Given the description of an element on the screen output the (x, y) to click on. 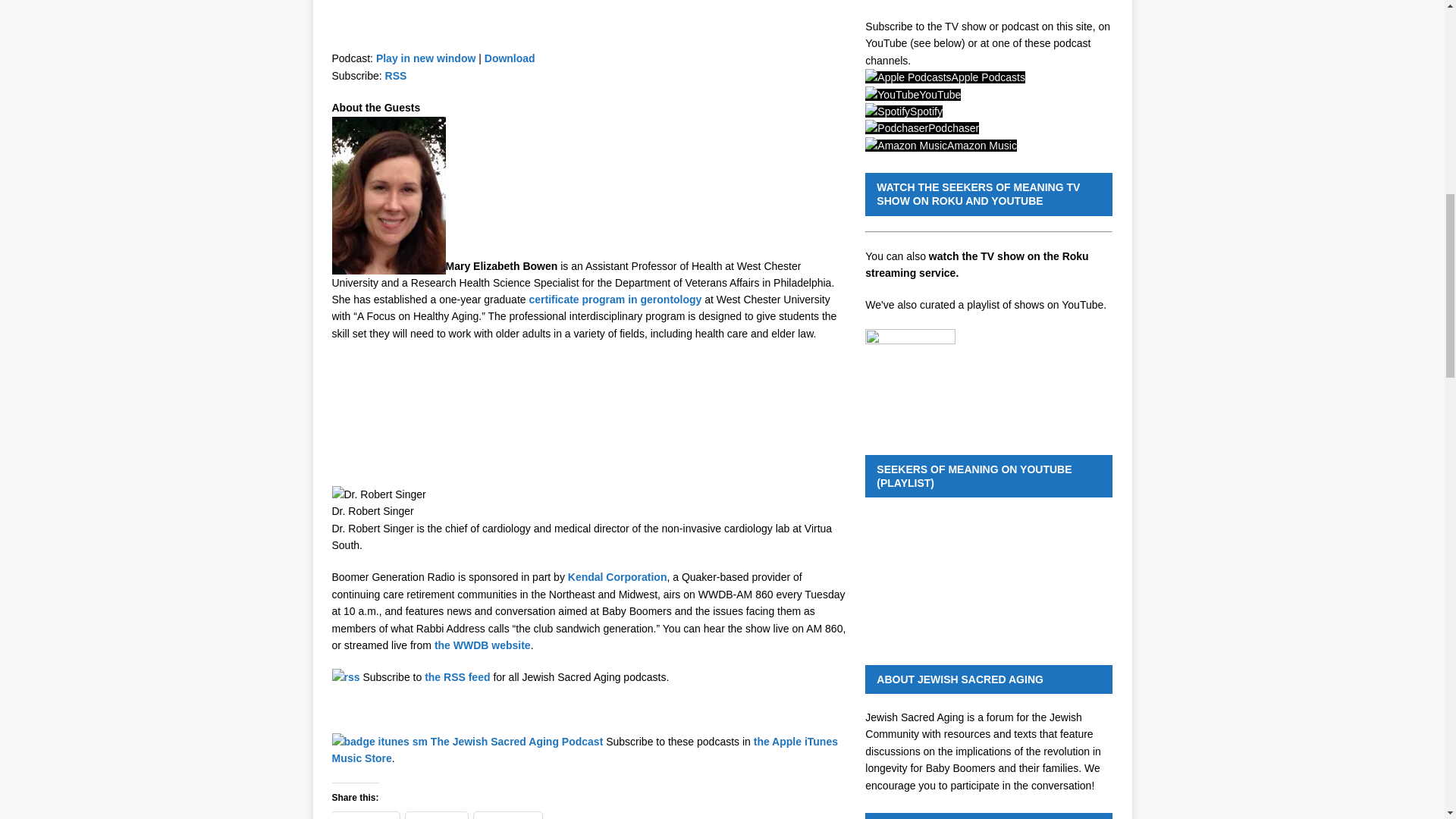
certificate program in gerontology (614, 299)
Download (509, 57)
Kendal Corporation (616, 576)
Click to share on LinkedIn (436, 815)
Click to share on Facebook (365, 815)
Blubrry Podcast Player (588, 22)
RSS (396, 75)
Click to share on Mastodon (507, 815)
Download (509, 57)
Play in new window (425, 57)
